Given the description of an element on the screen output the (x, y) to click on. 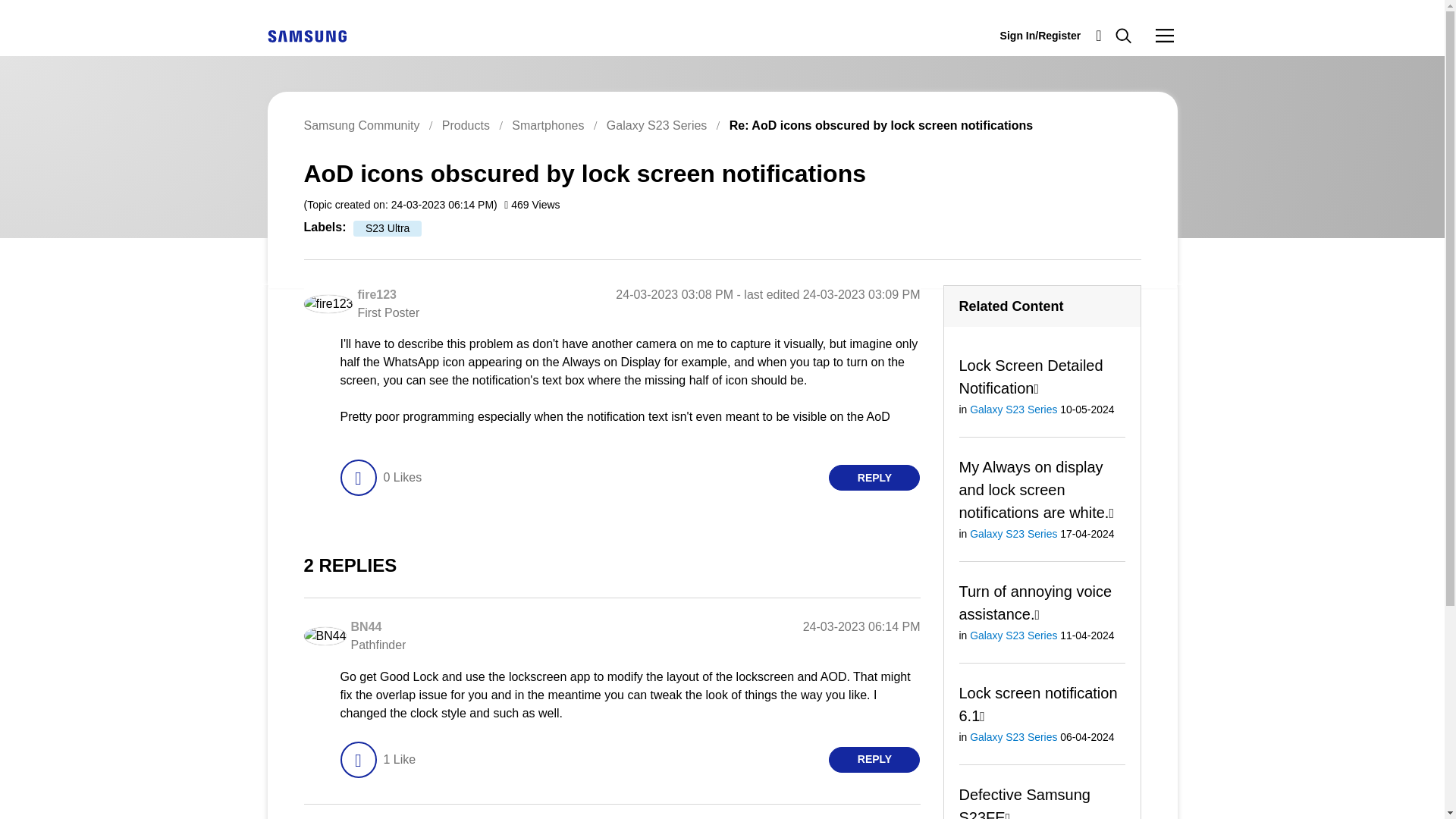
BN44 (365, 626)
Samsung Community (360, 124)
Smartphones (547, 124)
Community (1164, 35)
fire123 (327, 303)
Products (465, 124)
S23 Ultra (387, 228)
REPLY (874, 477)
Galaxy S23 Series (657, 124)
The total number of likes this post has received. (401, 477)
Click here to give likes to this post. (357, 477)
1 Like (398, 760)
English (306, 36)
English (306, 34)
fire123 (376, 294)
